Given the description of an element on the screen output the (x, y) to click on. 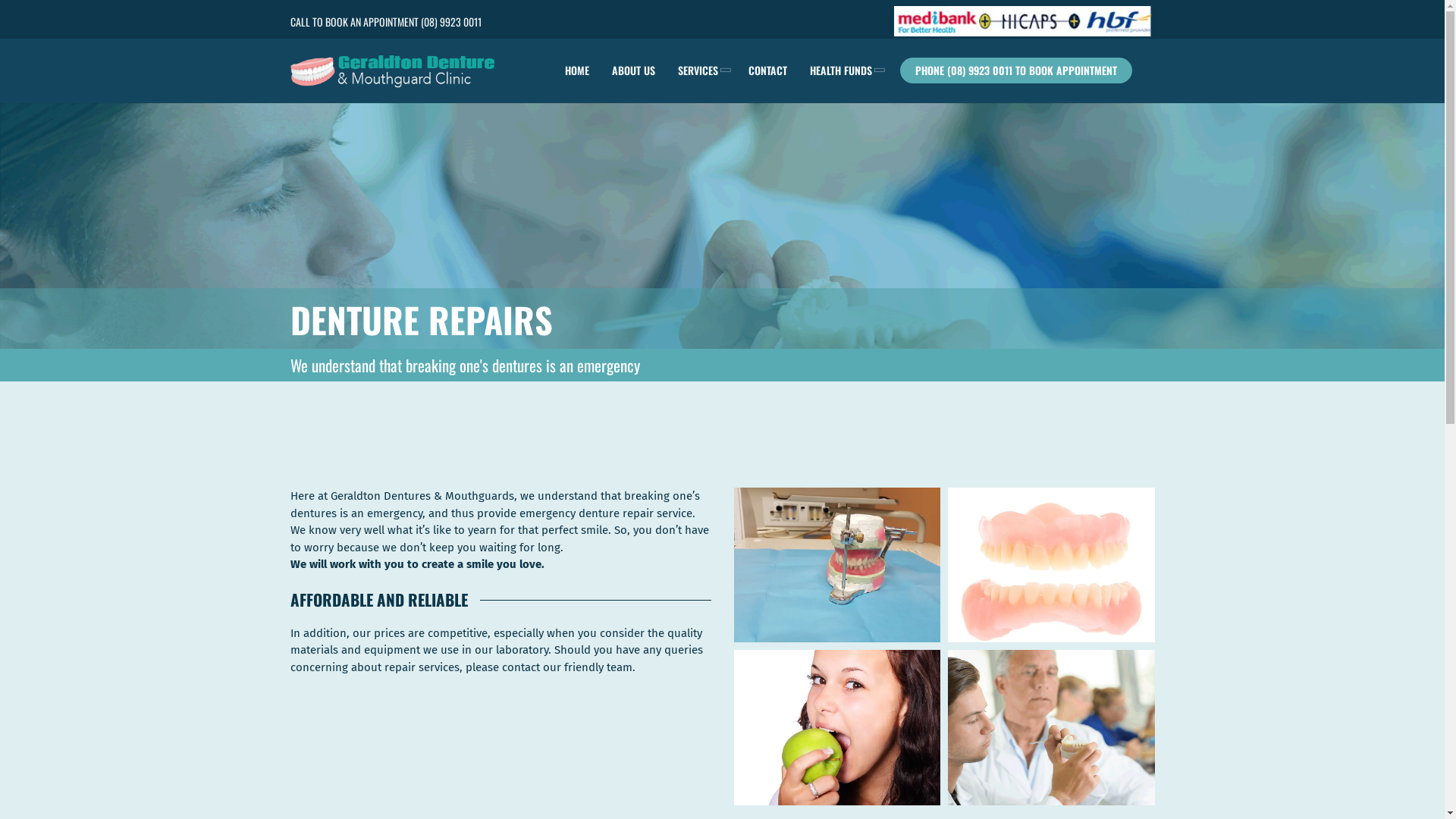
dentist-1012276_1920 Element type: hover (837, 564)
CONTACT Element type: text (767, 70)
HEALTH FUNDS Element type: text (843, 70)
PHONE (08) 9923 0011 TO BOOK APPOINTMENT Element type: text (1015, 70)
SERVICES Element type: text (700, 70)
woman_eating_apple_187365 Element type: hover (837, 726)
photodune-15595308-certified-dental-technician-xxl Element type: hover (1050, 726)
ABOUT US Element type: text (633, 70)
Acrylic denture Element type: hover (1050, 564)
HOME Element type: text (576, 70)
